Given the description of an element on the screen output the (x, y) to click on. 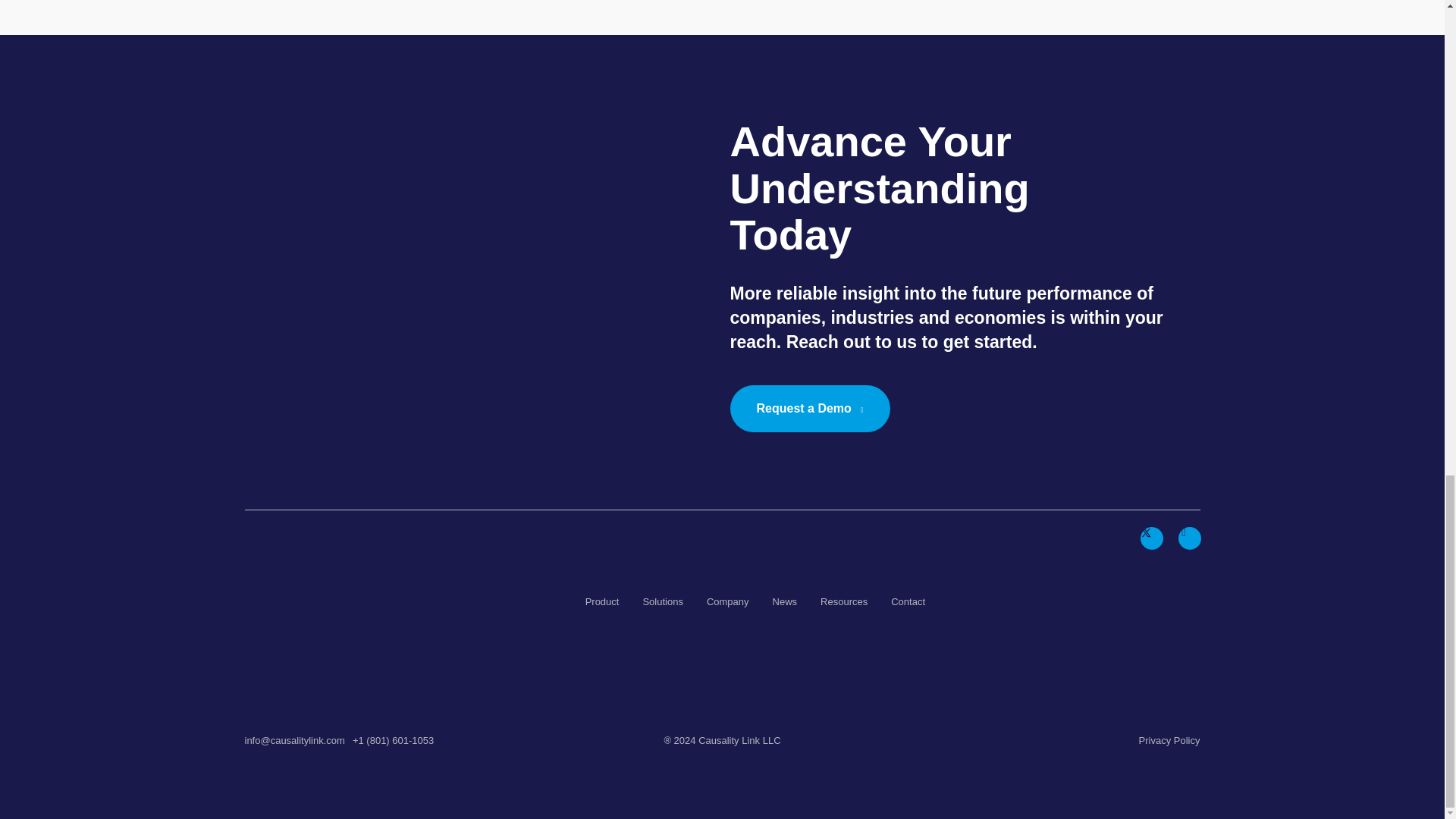
News (785, 601)
Resources (844, 601)
Contact (907, 601)
Solutions (662, 601)
Product (602, 601)
Request a Demo (809, 408)
Company (727, 601)
